Given the description of an element on the screen output the (x, y) to click on. 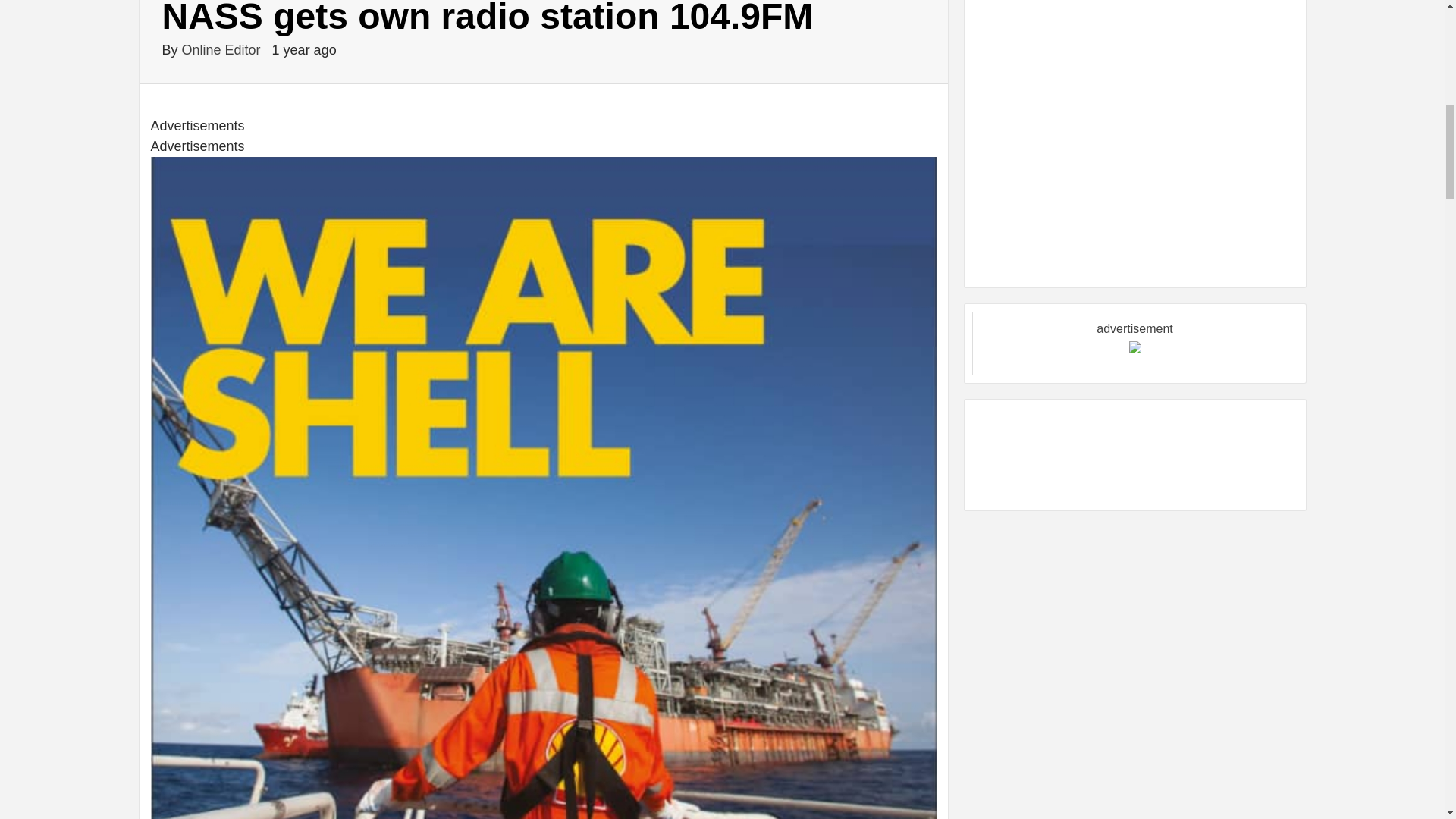
Advertisement (1085, 167)
Online Editor (223, 49)
